Given the description of an element on the screen output the (x, y) to click on. 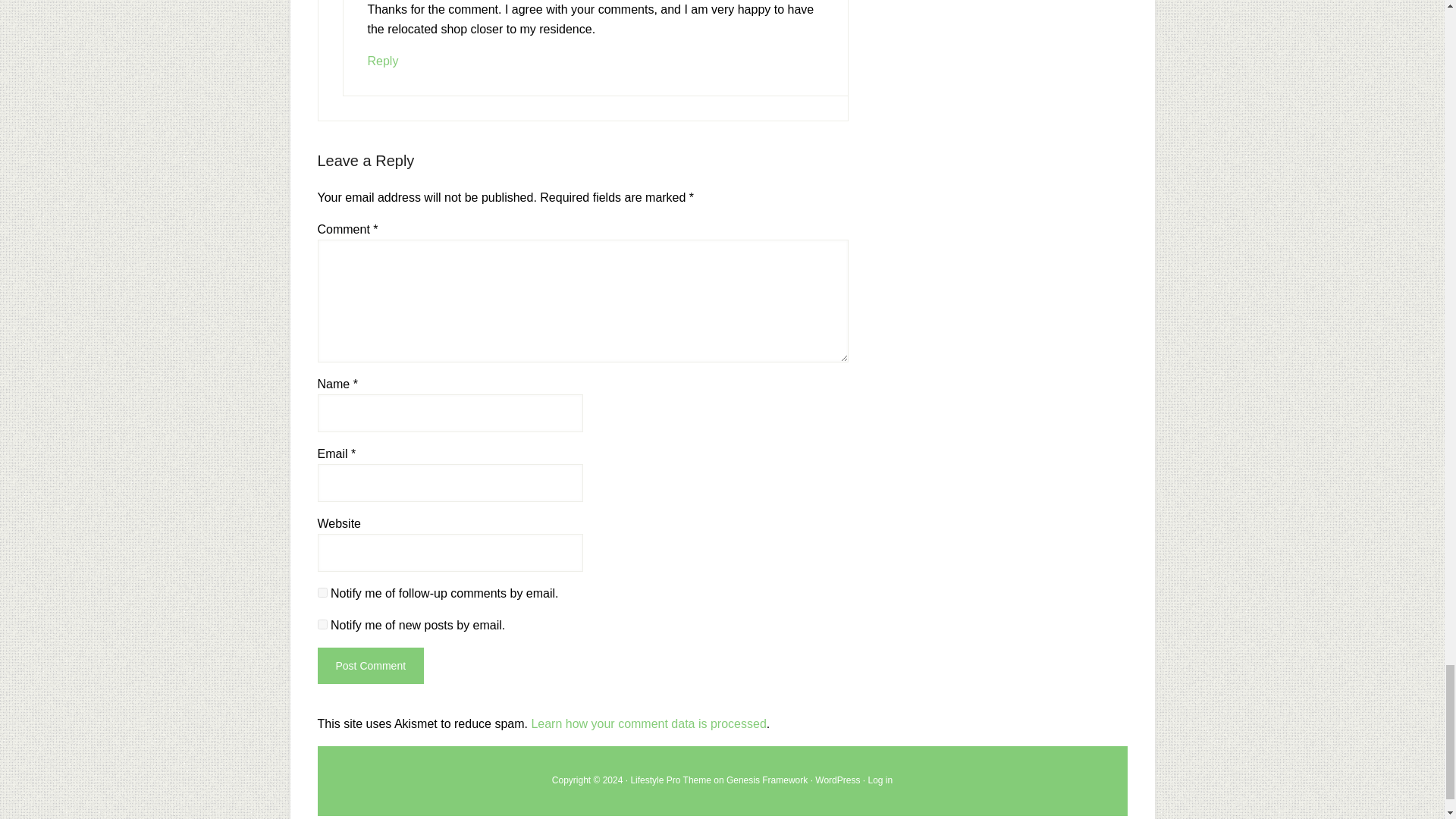
Reply (381, 60)
Post Comment (370, 665)
subscribe (321, 592)
subscribe (321, 624)
Learn how your comment data is processed (648, 723)
Post Comment (370, 665)
